Given the description of an element on the screen output the (x, y) to click on. 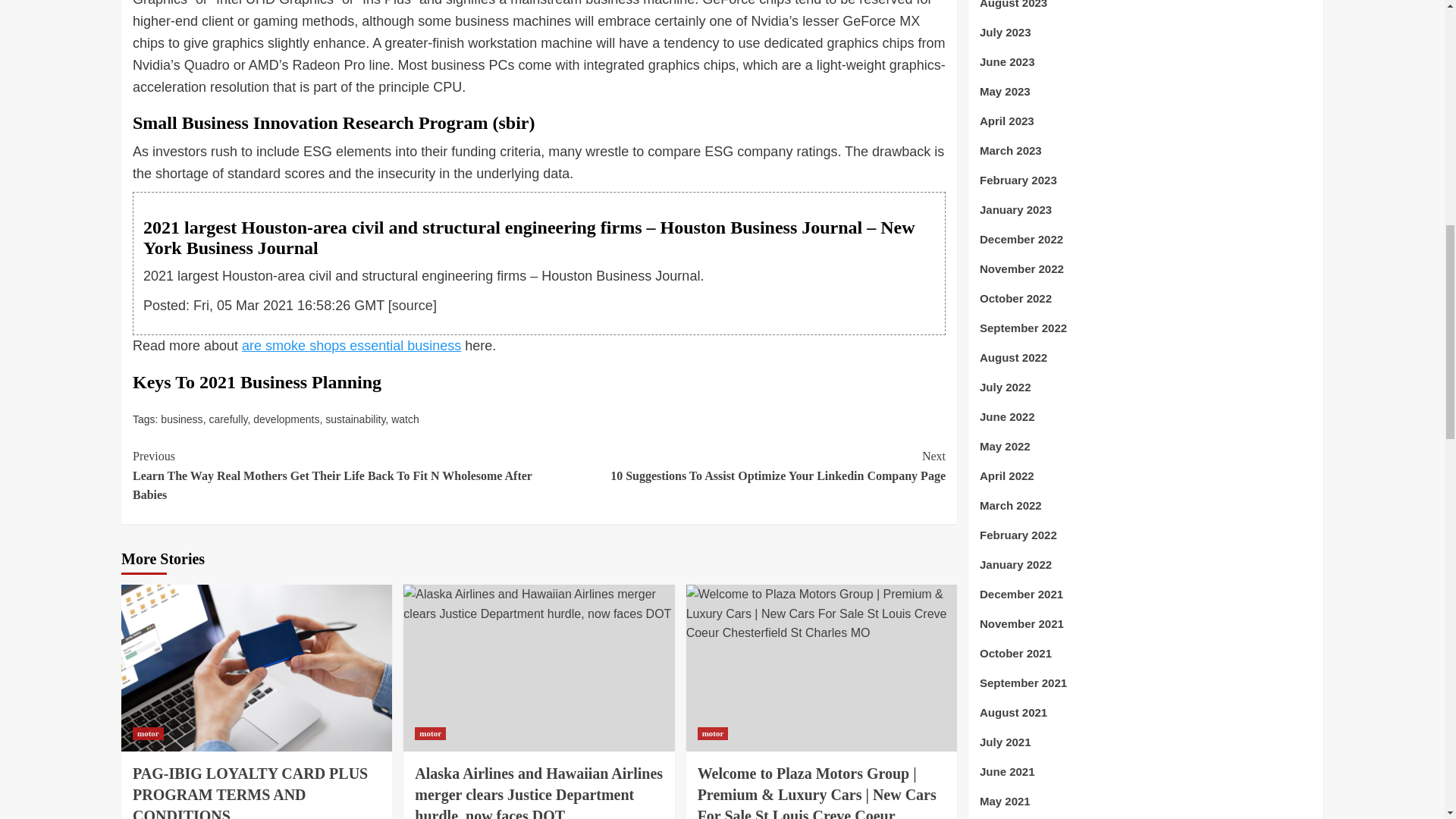
motor (147, 733)
are smoke shops essential business (351, 345)
carefully (227, 419)
business (181, 419)
developments (285, 419)
source (411, 305)
watch (405, 419)
PAG-IBIG LOYALTY CARD PLUS PROGRAM TERMS AND CONDITIONS (250, 791)
PAG-IBIG LOYALTY CARD PLUS PROGRAM TERMS AND CONDITIONS (255, 667)
